Given the description of an element on the screen output the (x, y) to click on. 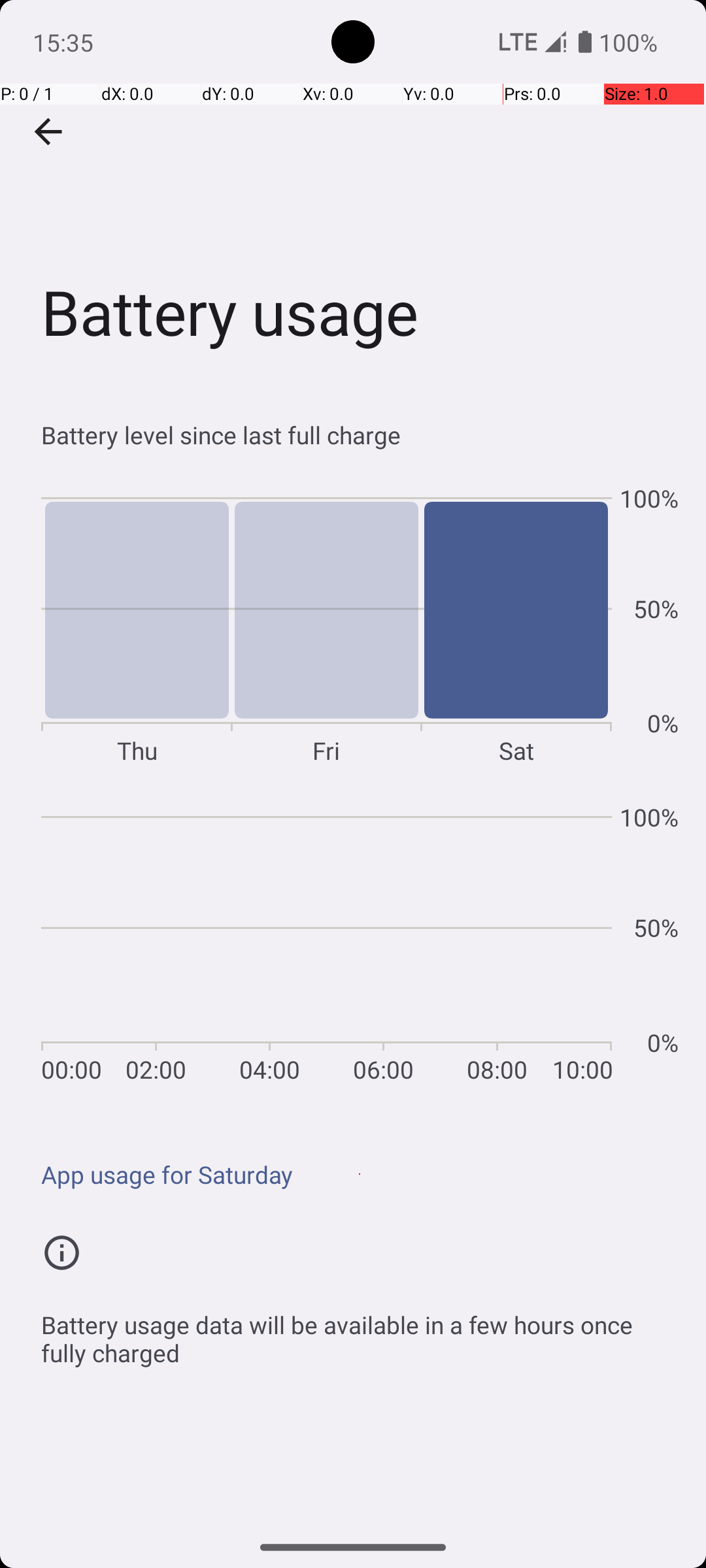
Battery usage Element type: android.widget.FrameLayout (353, 195)
Battery level since last full charge Element type: android.widget.TextView (359, 434)
App usage for Saturday Element type: android.widget.TextView (359, 1174)
Battery usage data will be available in a few hours once fully charged Element type: android.widget.TextView (359, 1331)
Saturday Element type: android.widget.ImageView (515, 624)
00:00-02:00 Element type: android.widget.ImageView (98, 943)
02:00-04:00 Element type: android.widget.ImageView (212, 943)
04:00-06:00 Element type: android.widget.ImageView (326, 943)
06:00-08:00 Element type: android.widget.ImageView (440, 943)
08:00-10:00 Element type: android.widget.ImageView (553, 943)
